Given the description of an element on the screen output the (x, y) to click on. 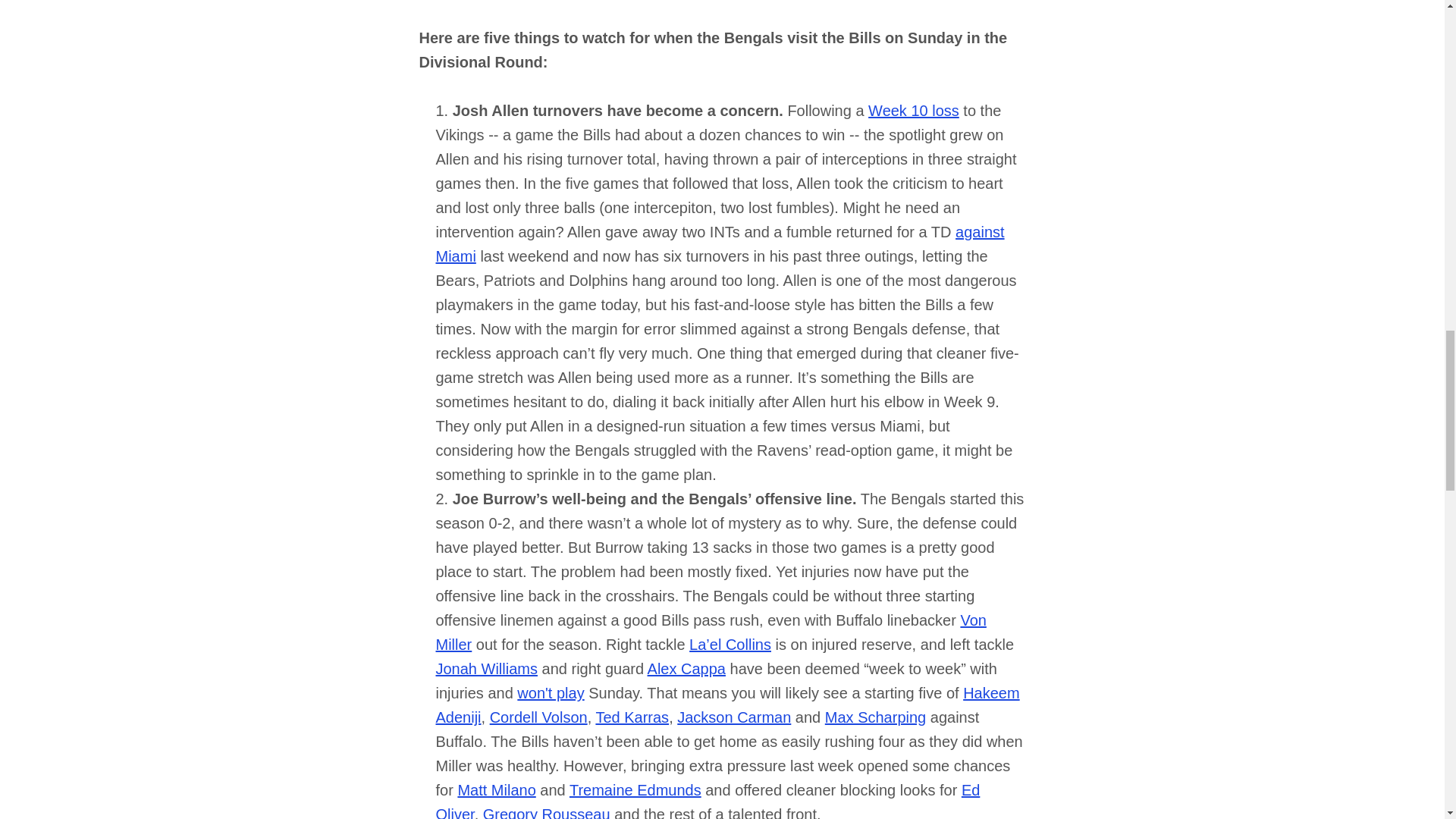
Matt Milano (496, 790)
Jackson Carman (733, 717)
Tremaine Edmunds (635, 790)
Week 10 loss (913, 110)
Cordell Volson (538, 717)
Ted Karras (631, 717)
against Miami (719, 243)
Jonah Williams (486, 668)
Max Scharping (875, 717)
Von Miller (710, 631)
